Given the description of an element on the screen output the (x, y) to click on. 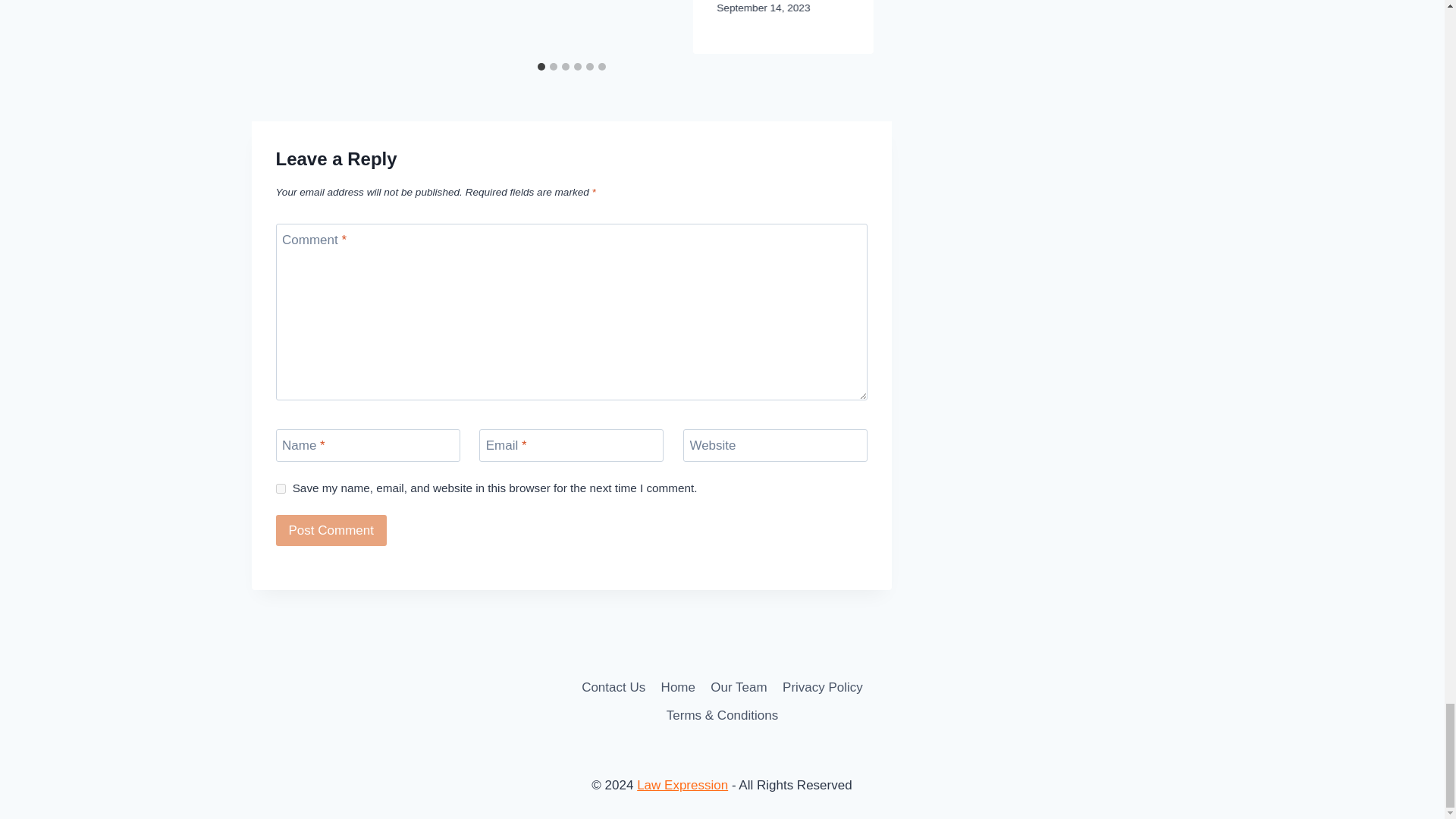
Post Comment (331, 530)
yes (280, 488)
